Given the description of an element on the screen output the (x, y) to click on. 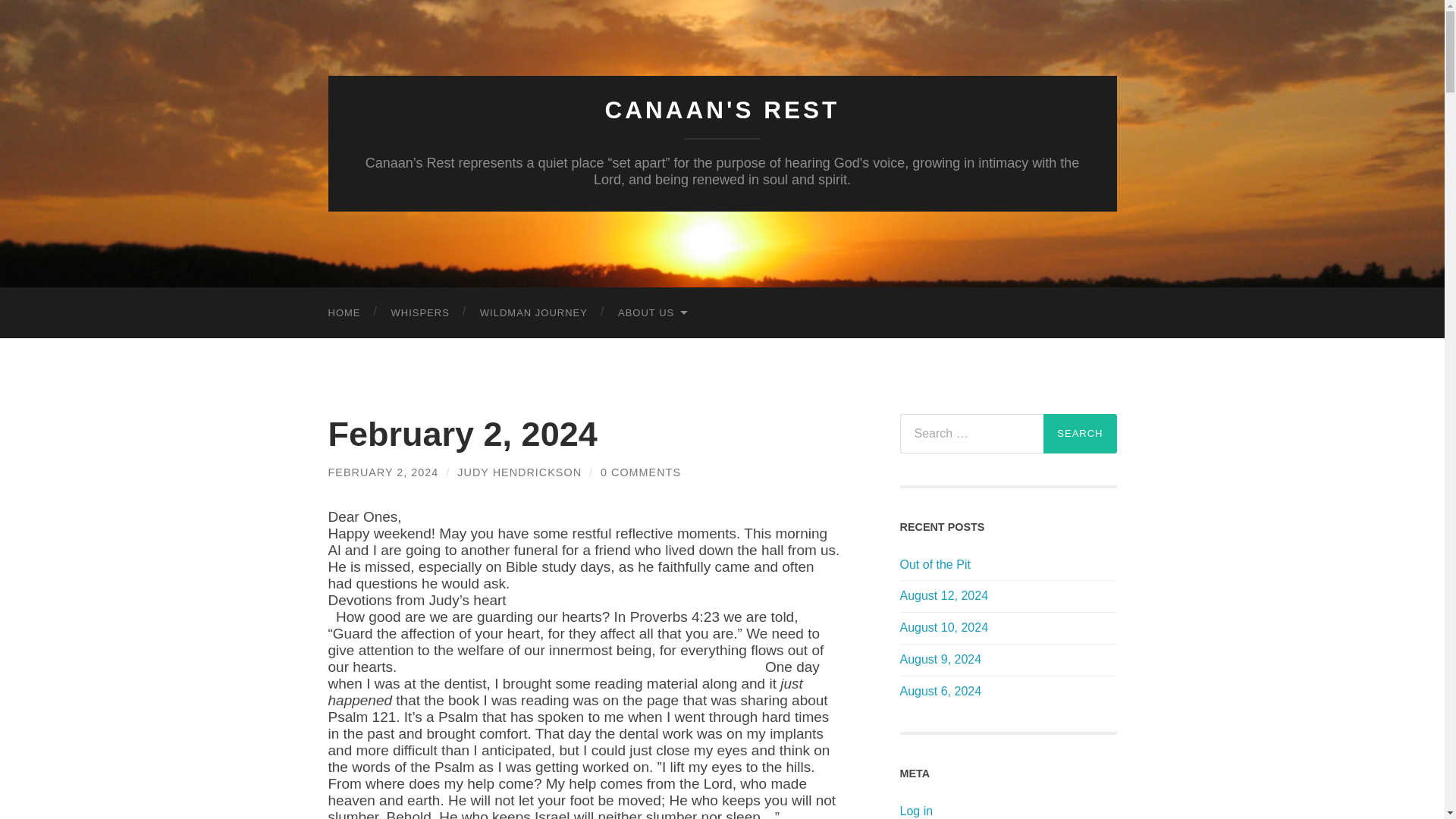
Search (1079, 433)
HOME (344, 311)
WHISPERS (419, 311)
CANAAN'S REST (722, 109)
WILDMAN JOURNEY (533, 311)
August 6, 2024 (1007, 691)
Log in (916, 810)
Search (1079, 433)
August 9, 2024 (1007, 659)
Out of the Pit (1007, 565)
